Given the description of an element on the screen output the (x, y) to click on. 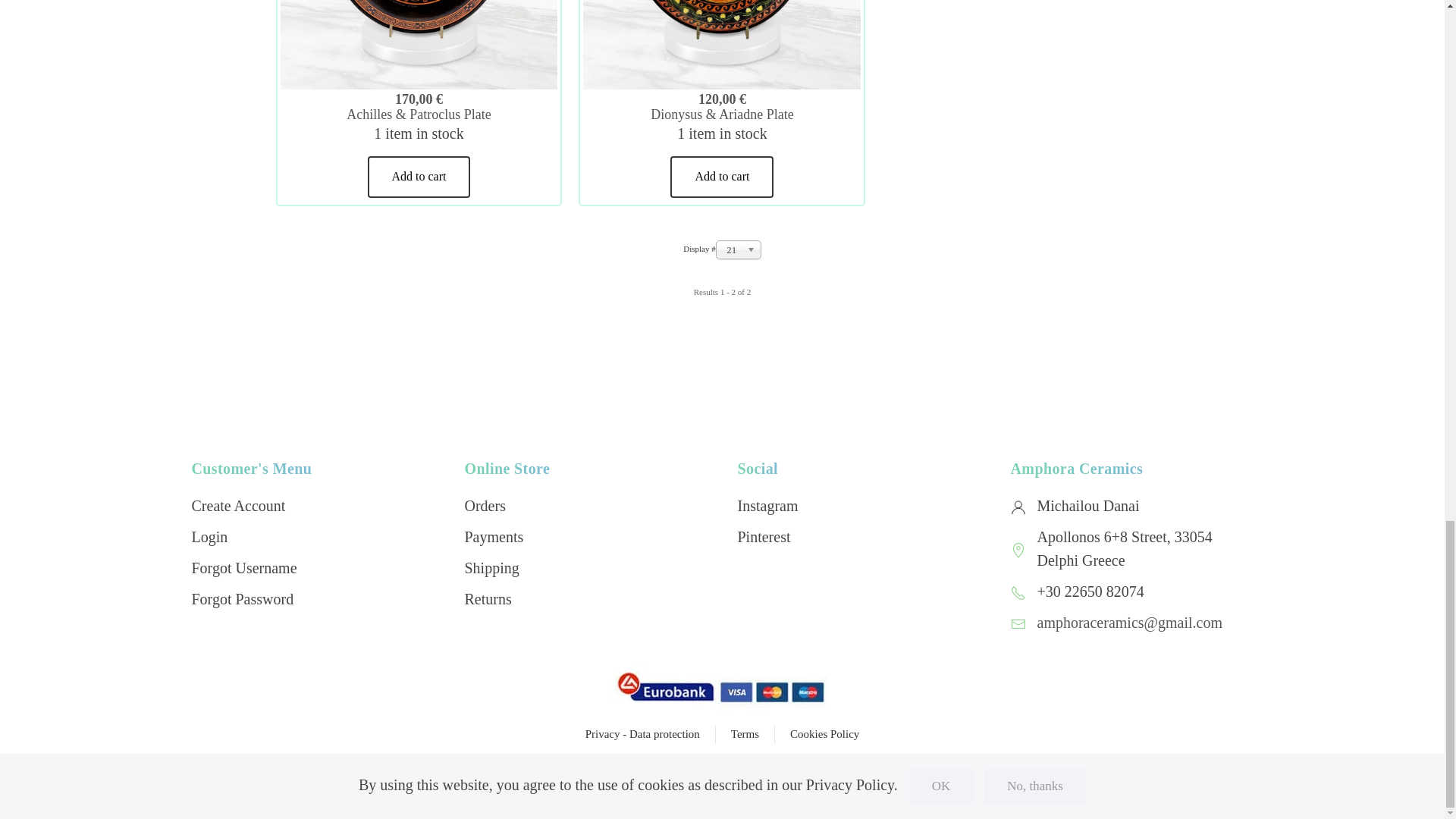
Add to cart (418, 177)
Instagram (766, 505)
Payments (585, 536)
Login (311, 536)
Create Account (311, 505)
Shipping (585, 567)
Returns (585, 599)
Add to cart (721, 177)
21 (738, 249)
Forgot Password (311, 599)
Orders (585, 505)
Forgot Username (311, 567)
